Given the description of an element on the screen output the (x, y) to click on. 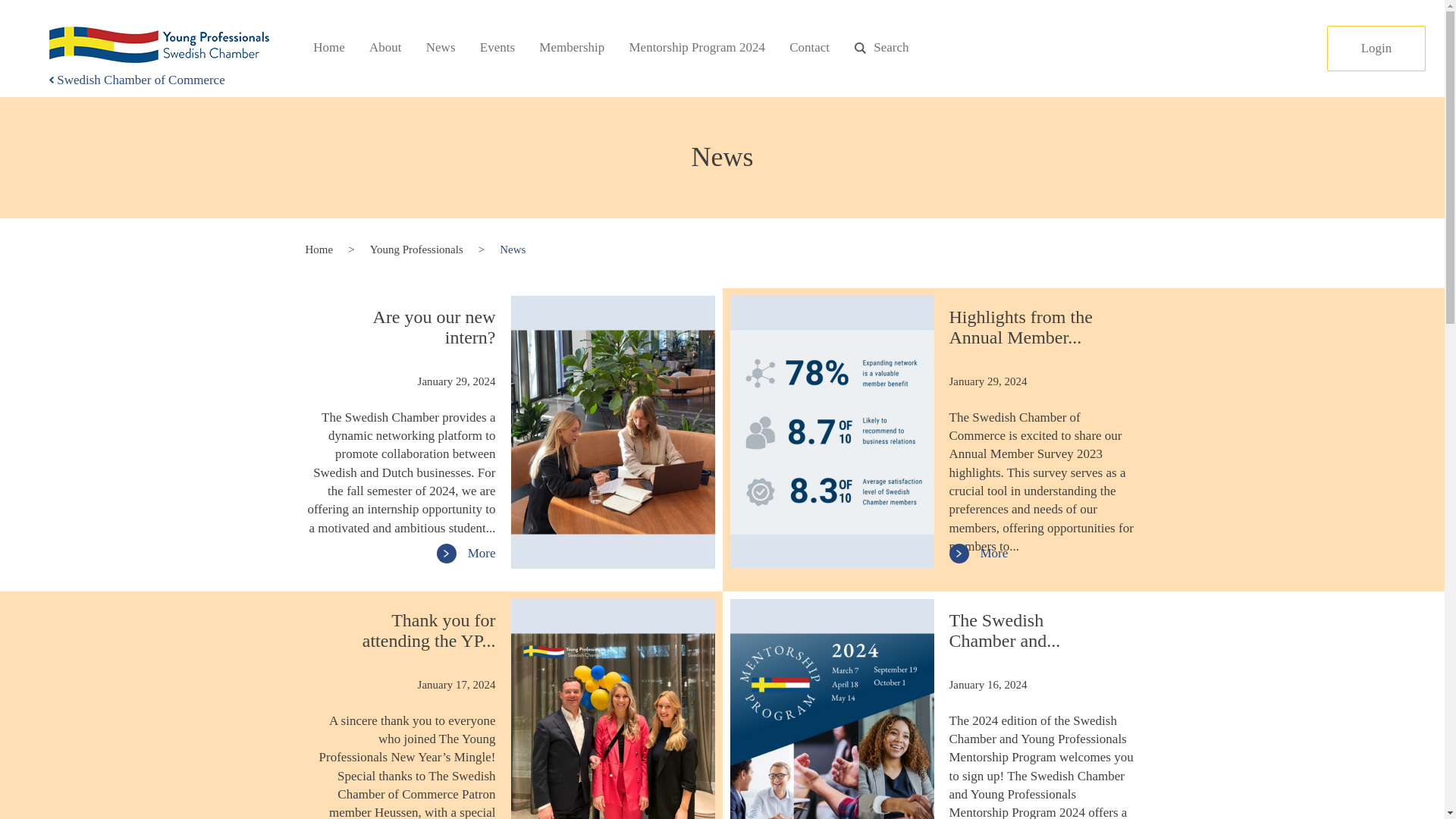
Home (328, 47)
Home (318, 249)
Login (1375, 48)
Events (496, 47)
Contact (809, 47)
Search (880, 47)
Go to Young Professionals. (416, 249)
Membership (571, 47)
About (385, 47)
